Given the description of an element on the screen output the (x, y) to click on. 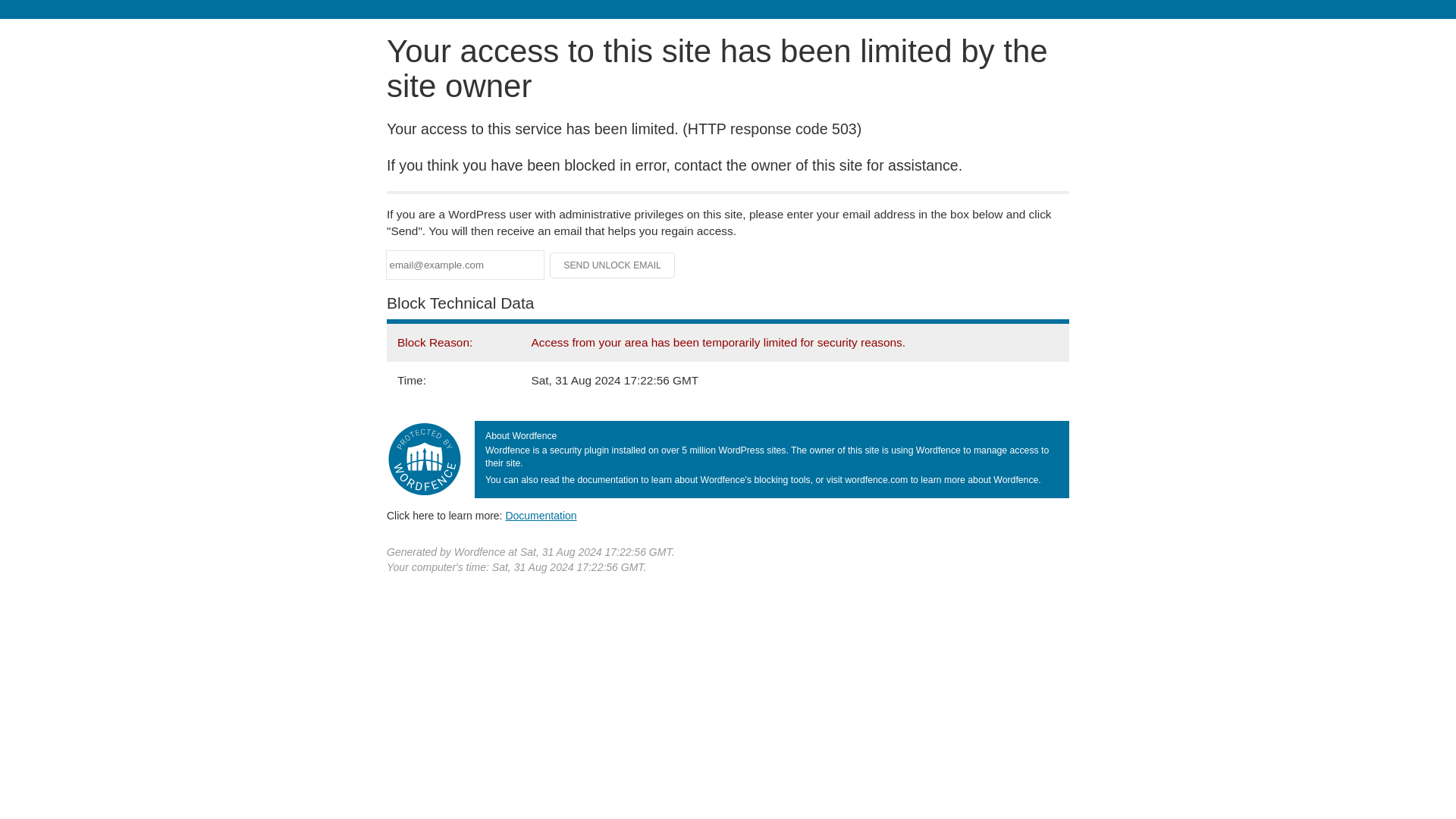
Send Unlock Email (612, 265)
Send Unlock Email (612, 265)
Documentation (540, 515)
